Given the description of an element on the screen output the (x, y) to click on. 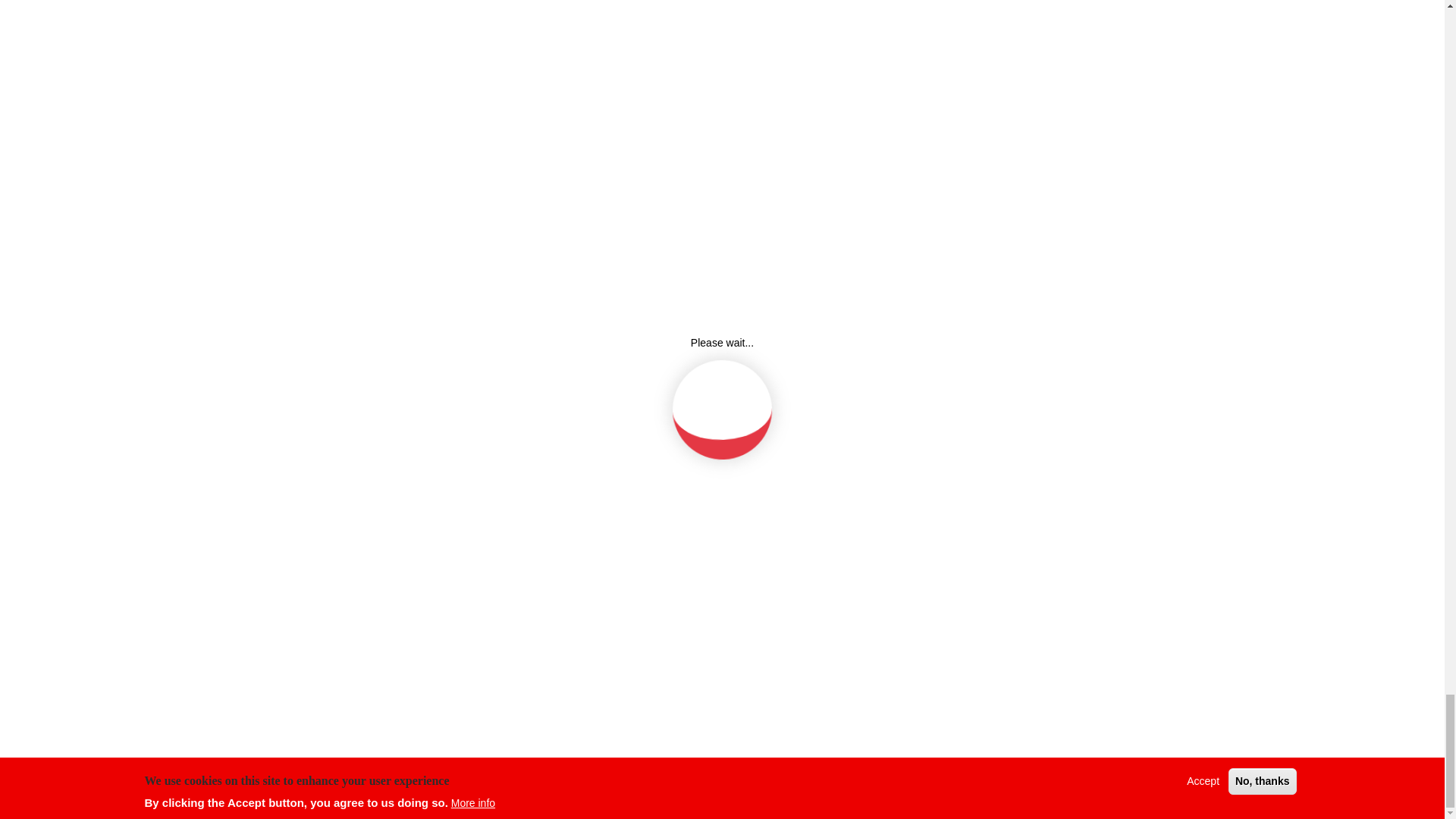
Management Policy (780, 577)
Cookies (980, 515)
Privacy Policy (766, 546)
Anti-corruption Policy (783, 609)
Contact us (985, 609)
Kyo Electric (988, 546)
Kit Laboral (985, 577)
